Given the description of an element on the screen output the (x, y) to click on. 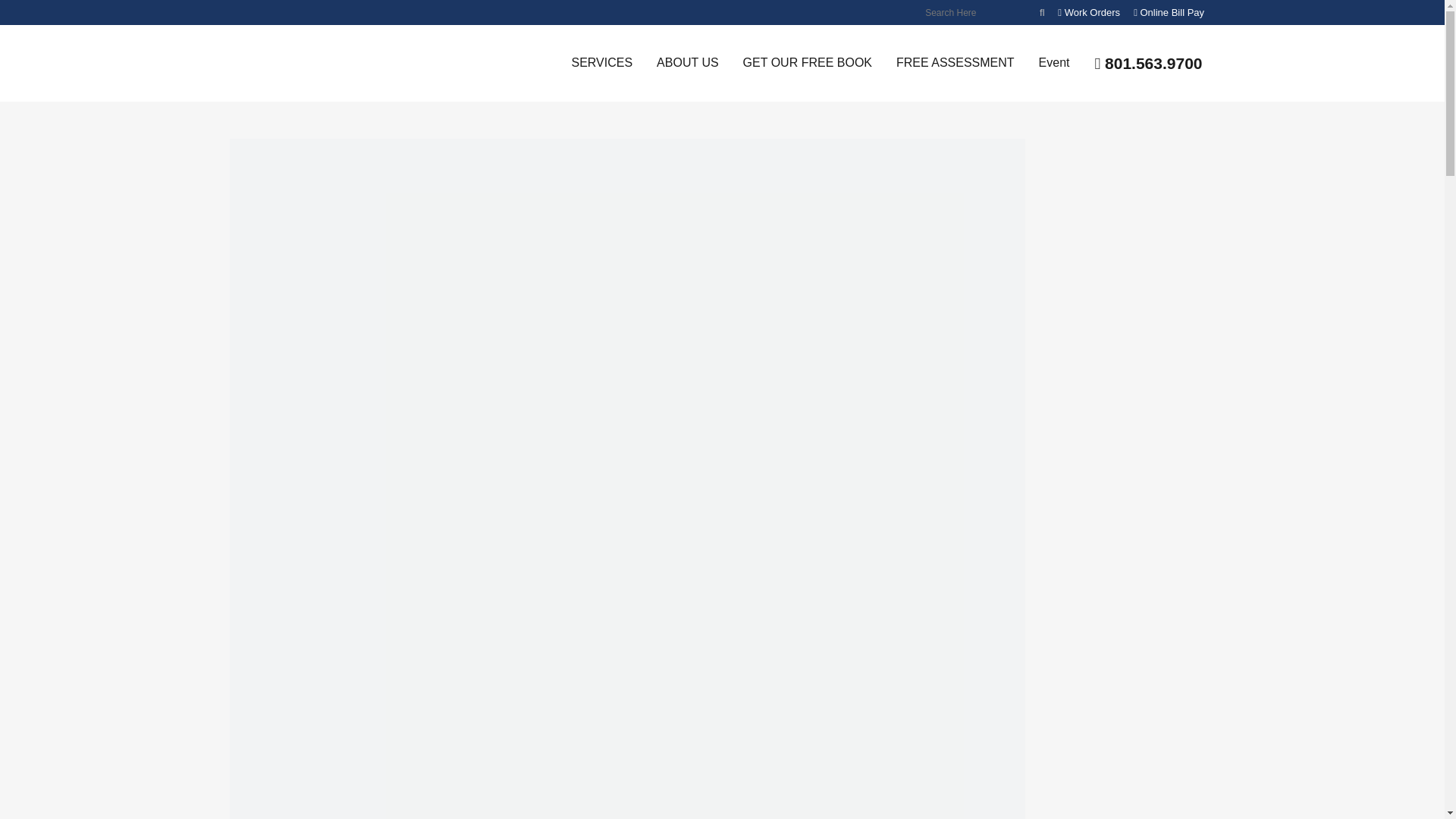
ABOUT US (687, 62)
SERVICES (602, 62)
Work Orders (1088, 12)
Online Bill Pay (1169, 12)
801.563.9700 (1148, 63)
